Given the description of an element on the screen output the (x, y) to click on. 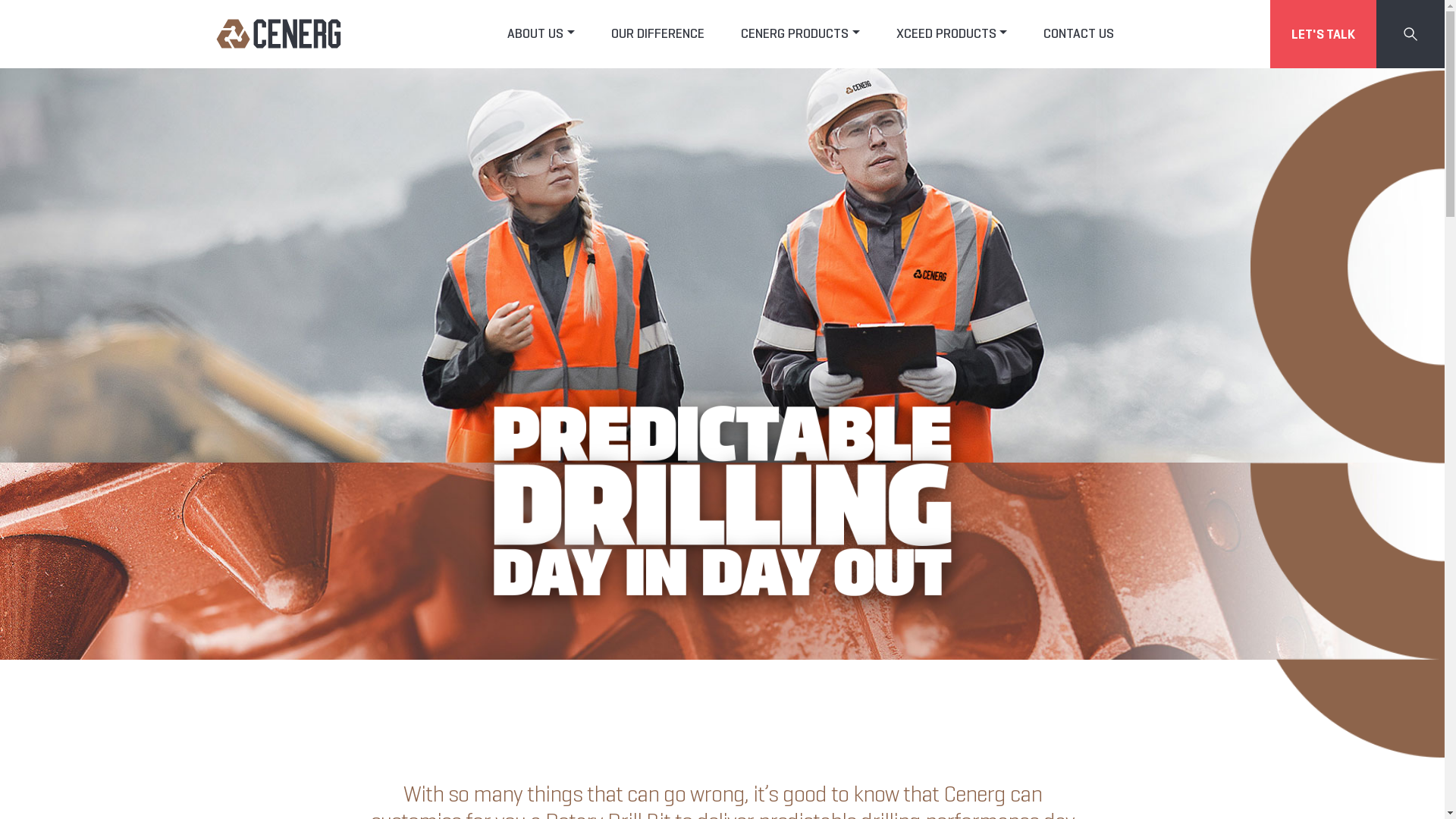
LET'S TALK Element type: text (1323, 34)
ABOUT US Element type: text (540, 33)
XCEED PRODUCTS Element type: text (951, 33)
CENERG PRODUCTS Element type: text (799, 33)
CONTACT US Element type: text (1078, 33)
OUR DIFFERENCE Element type: text (657, 33)
